Given the description of an element on the screen output the (x, y) to click on. 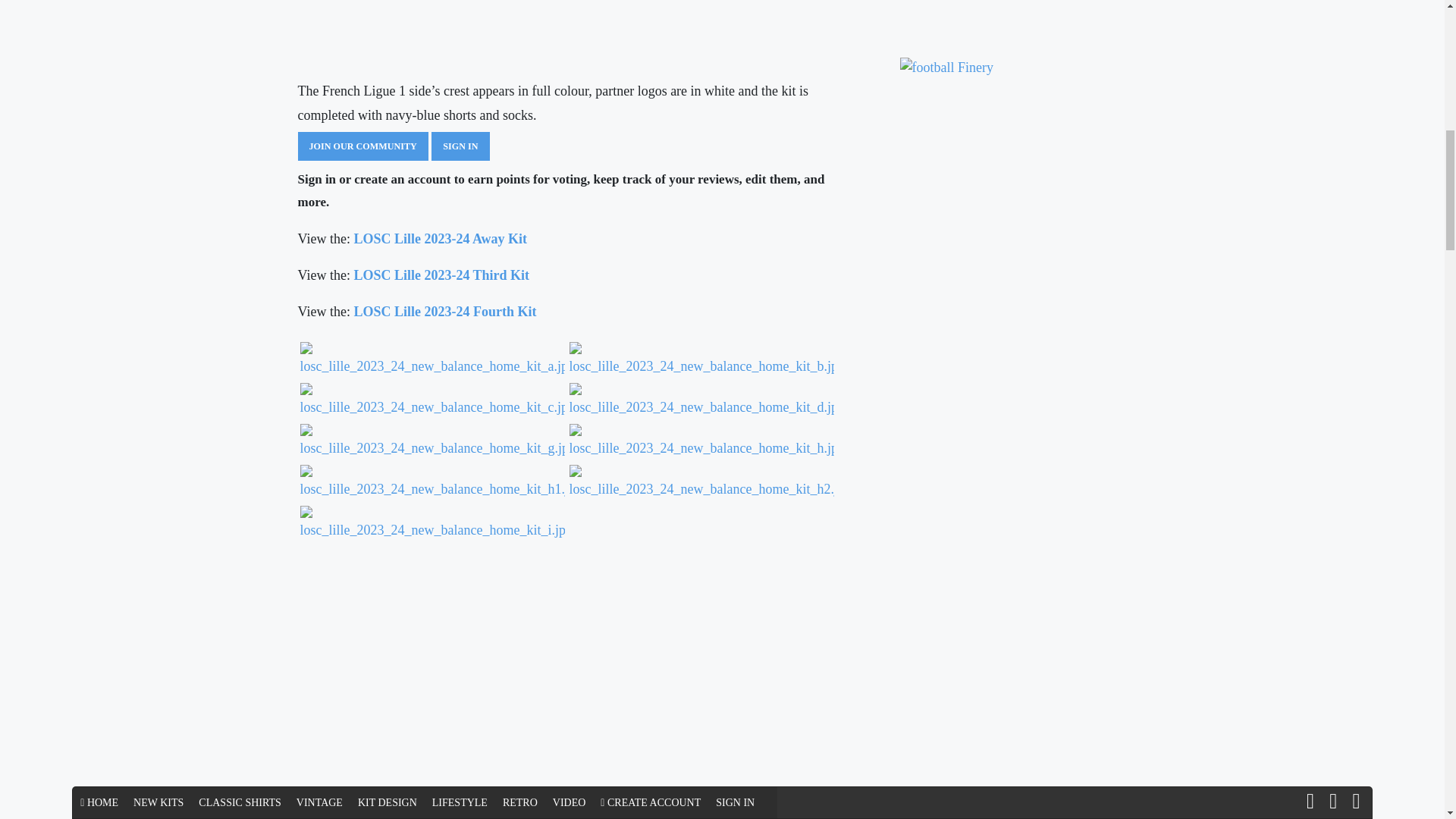
LOSC Lille 2023-24 Away Kit (440, 238)
JOIN OUR COMMUNITY (362, 146)
SIGN IN (459, 146)
LOSC Lille 2023-24 Fourth Kit (444, 311)
LOSC Lille 2023-24 Third Kit (441, 274)
